Given the description of an element on the screen output the (x, y) to click on. 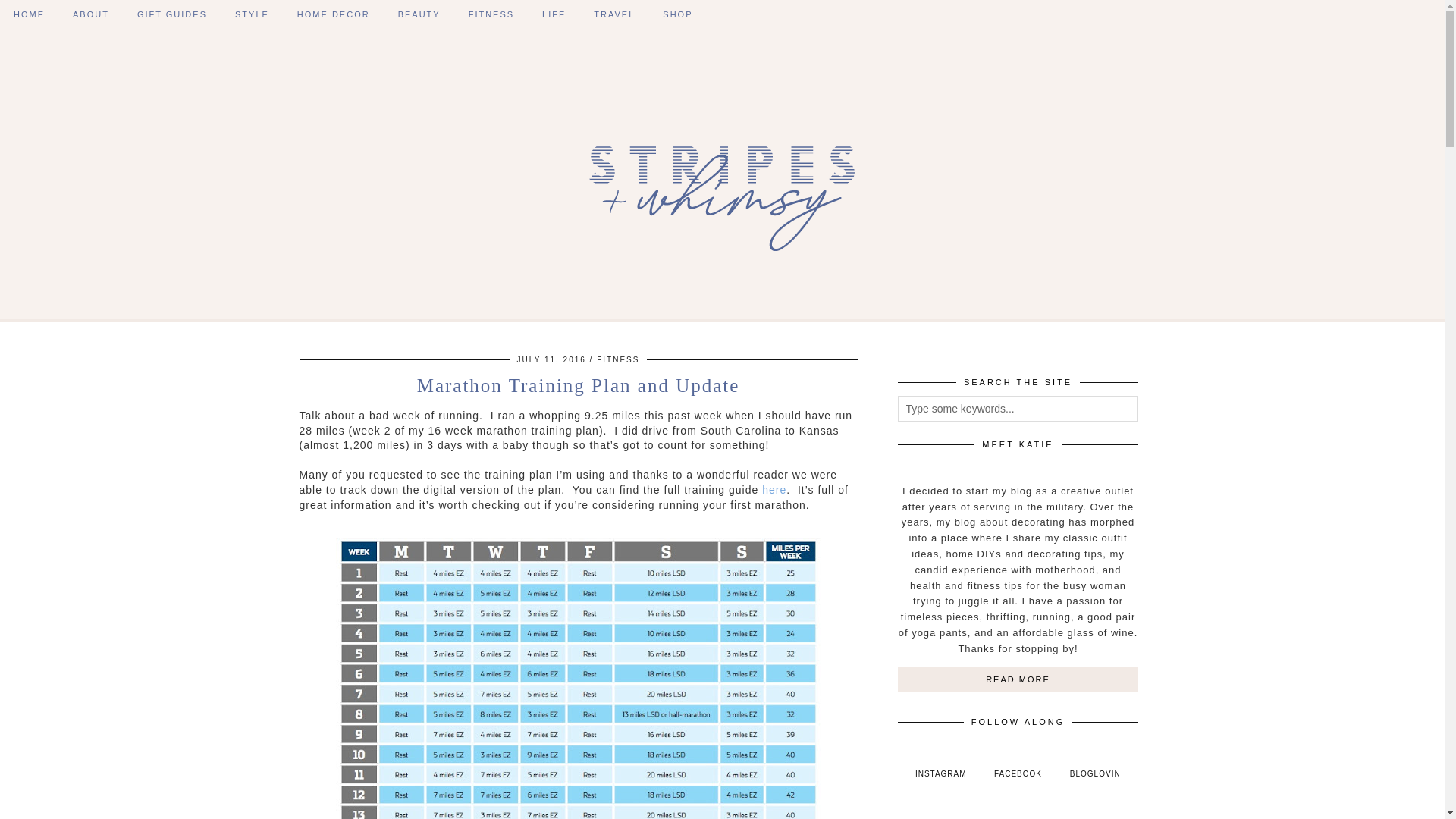
HOME (29, 14)
GIFT GUIDES (172, 14)
BEAUTY (419, 14)
STYLE (251, 14)
ABOUT (90, 14)
FITNESS (490, 14)
HOME DECOR (333, 14)
LIFE (553, 14)
